Given the description of an element on the screen output the (x, y) to click on. 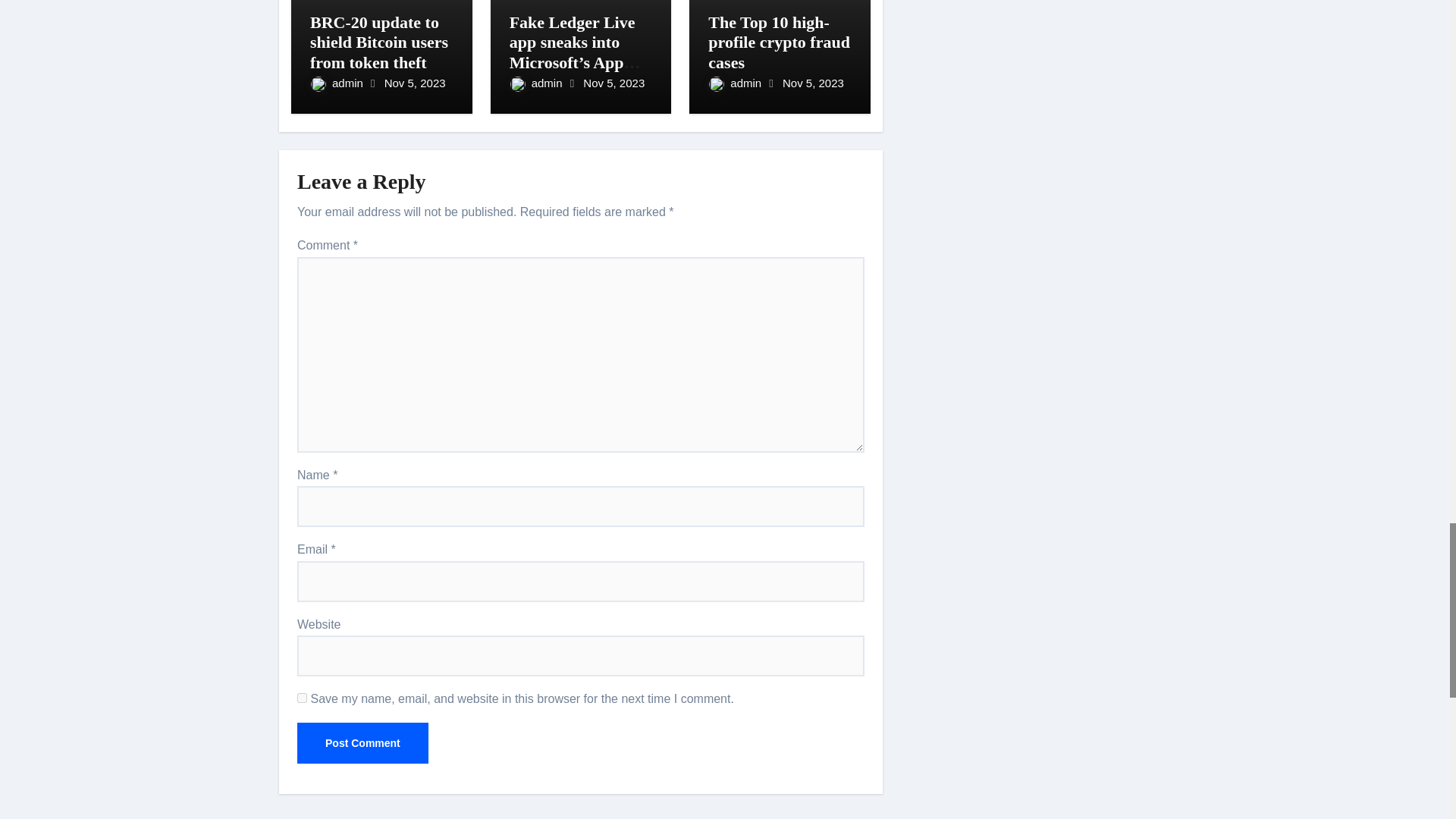
Post Comment (362, 742)
yes (302, 697)
